Given the description of an element on the screen output the (x, y) to click on. 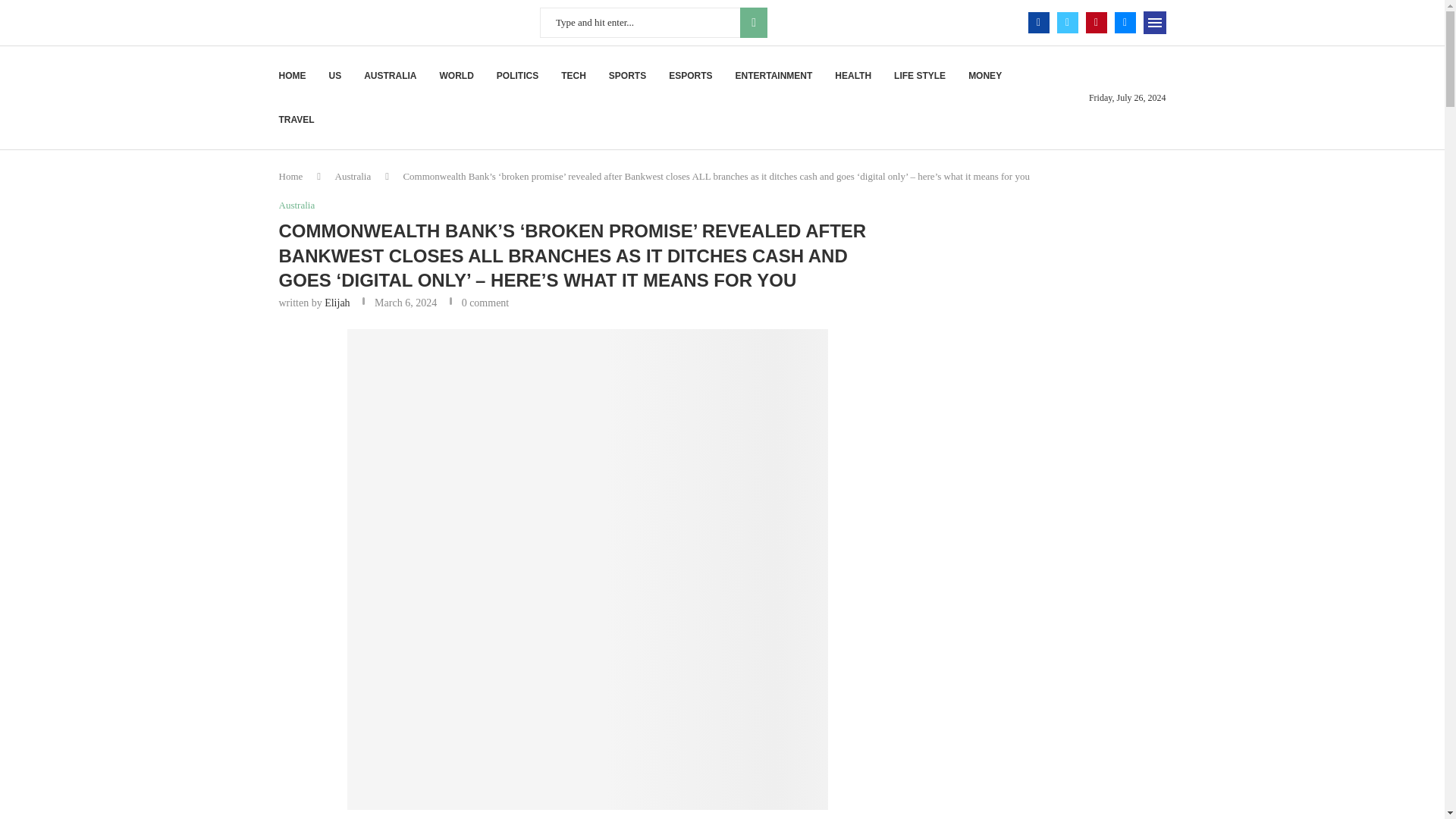
WORLD (456, 75)
TECH (573, 75)
SPORTS (627, 75)
TRAVEL (296, 119)
US (335, 75)
POLITICS (517, 75)
HOME (292, 75)
AUSTRALIA (390, 75)
MONEY (984, 75)
HEALTH (852, 75)
LIFE STYLE (918, 75)
SEARCH (753, 22)
ESPORTS (689, 75)
ENTERTAINMENT (773, 75)
